Given the description of an element on the screen output the (x, y) to click on. 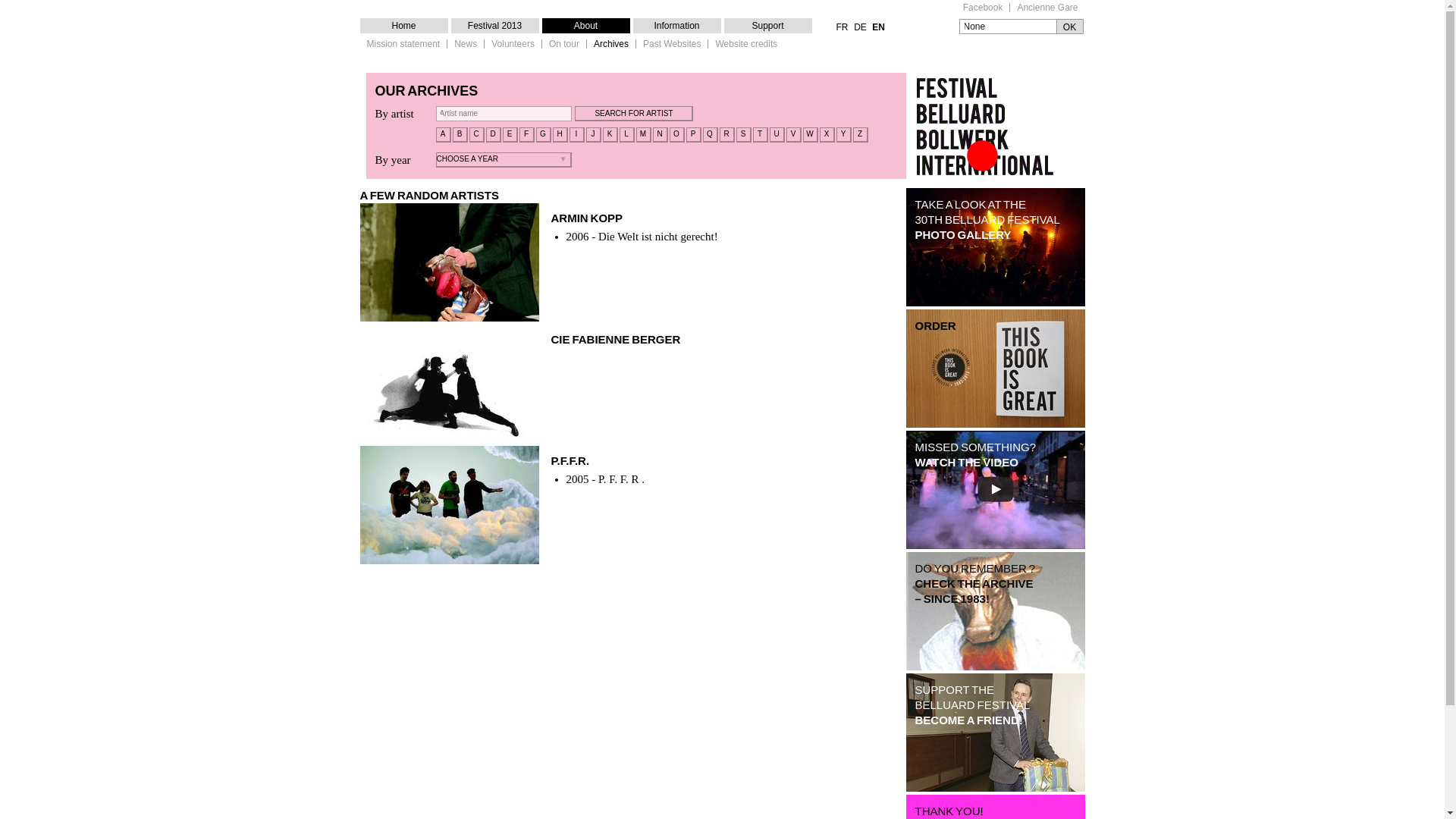
Mission statement Element type: text (402, 44)
E Element type: text (509, 134)
I Element type: text (575, 134)
DE Element type: text (859, 27)
Support Element type: text (767, 25)
CIE FABIENNE BERGER
CIE FABIENNE BERGER Element type: text (630, 383)
About Element type: text (585, 25)
Y Element type: text (842, 134)
SUPPORT THE
BELLUARD FESTIVAL
BECOME A FRIEND! Element type: text (994, 732)
C Element type: text (475, 134)
F Element type: text (525, 134)
Festival 2013 Element type: text (494, 25)
OK Element type: text (1068, 26)
Z Element type: text (859, 134)
TAKE A LOOK AT THE
30TH BELLUARD FESTIVAL
PHOTO GALLERY Element type: text (994, 247)
J Element type: text (592, 134)
M Element type: text (642, 134)
Past Websites Element type: text (671, 44)
Information Element type: text (676, 25)
Archives Element type: text (610, 44)
B Element type: text (459, 134)
P Element type: text (692, 134)
P.F.F.R.
P.F.F.R.
2005 - P. F. F. R . Element type: text (630, 504)
Armin Kopp
ARMIN KOPP
2006 - Die Welt ist nicht gerecht! Element type: text (630, 262)
H Element type: text (559, 134)
News Element type: text (465, 44)
Search for artist Element type: text (633, 113)
T Element type: text (759, 134)
Website credits Element type: text (746, 44)
R Element type: text (726, 134)
Home Element type: text (403, 25)
Volunteers Element type: text (512, 44)
X Element type: text (826, 134)
K Element type: text (609, 134)
Facebook Element type: text (983, 7)
EN Element type: text (877, 27)
FR Element type: text (841, 27)
D Element type: text (492, 134)
MISSED SOMETHING?
WATCH THE VIDEO Element type: text (994, 489)
U Element type: text (776, 134)
N Element type: text (659, 134)
On tour Element type: text (564, 44)
O Element type: text (676, 134)
S Element type: text (742, 134)
A Element type: text (442, 134)
Ancienne Gare Element type: text (1047, 7)
Q Element type: text (709, 134)
G Element type: text (542, 134)
V Element type: text (792, 134)
W Element type: text (809, 134)
ORDER Element type: text (994, 368)
L Element type: text (625, 134)
